Given the description of an element on the screen output the (x, y) to click on. 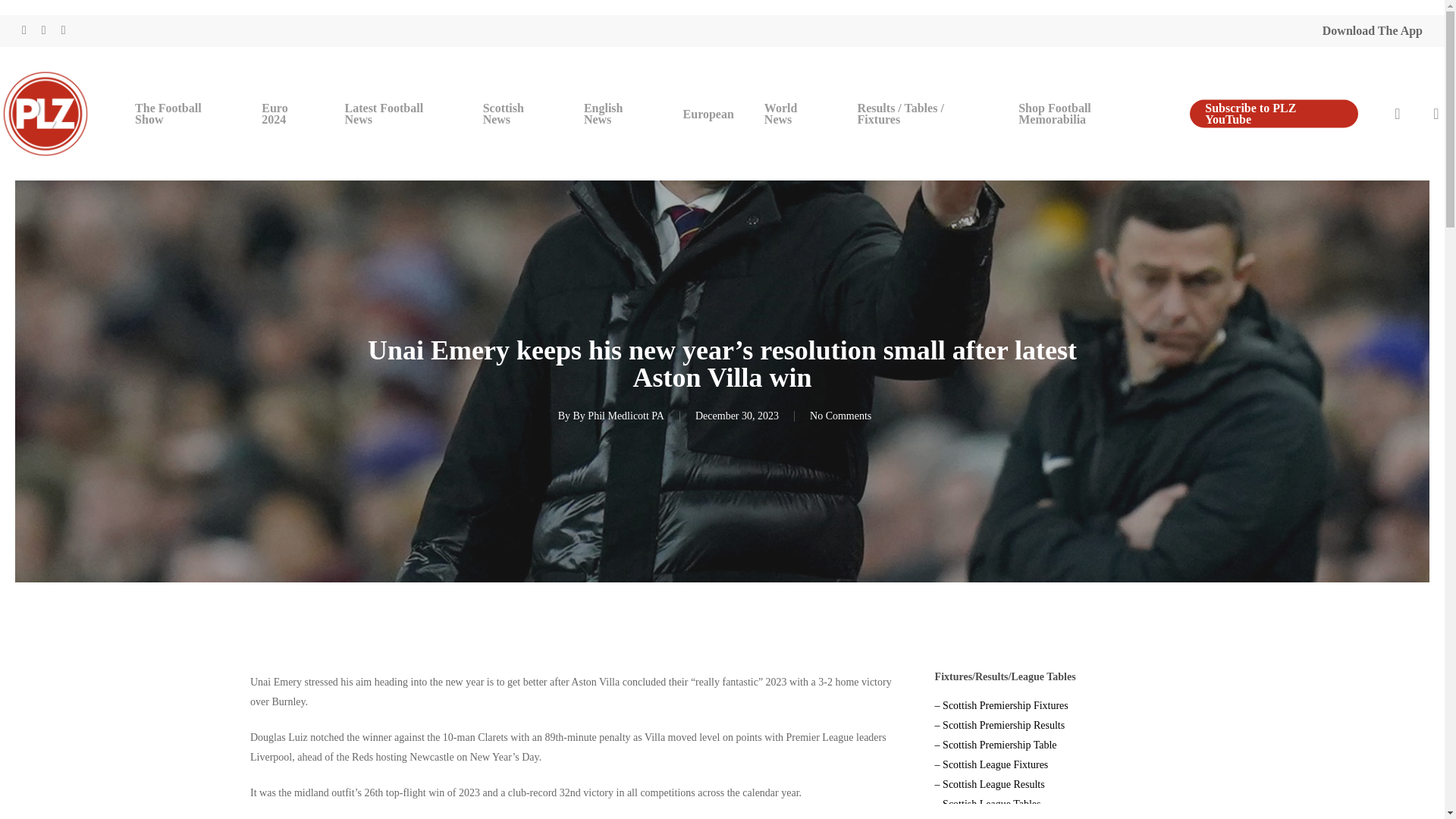
Scottish News (518, 113)
The Football Show (182, 113)
European (708, 112)
Euro 2024 (287, 113)
English News (618, 113)
Shop Football Memorabilia (1088, 113)
World News (796, 113)
Download The App (1372, 30)
Posts by By Phil Medlicott PA (618, 415)
Latest Football News (398, 113)
